Given the description of an element on the screen output the (x, y) to click on. 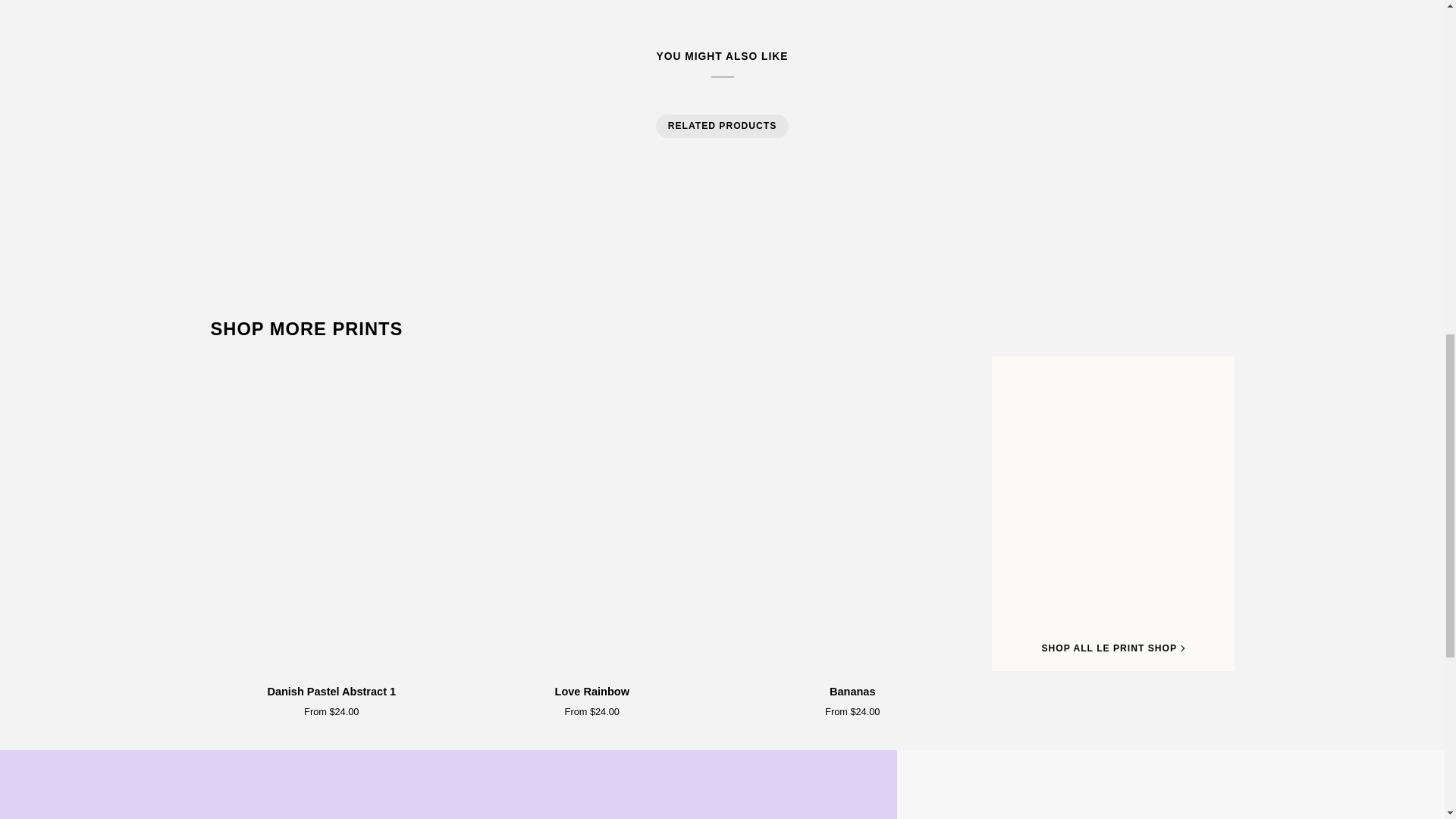
RELATED PRODUCTS (722, 126)
Browse our Le PRINT SHOP collection (307, 329)
